Given the description of an element on the screen output the (x, y) to click on. 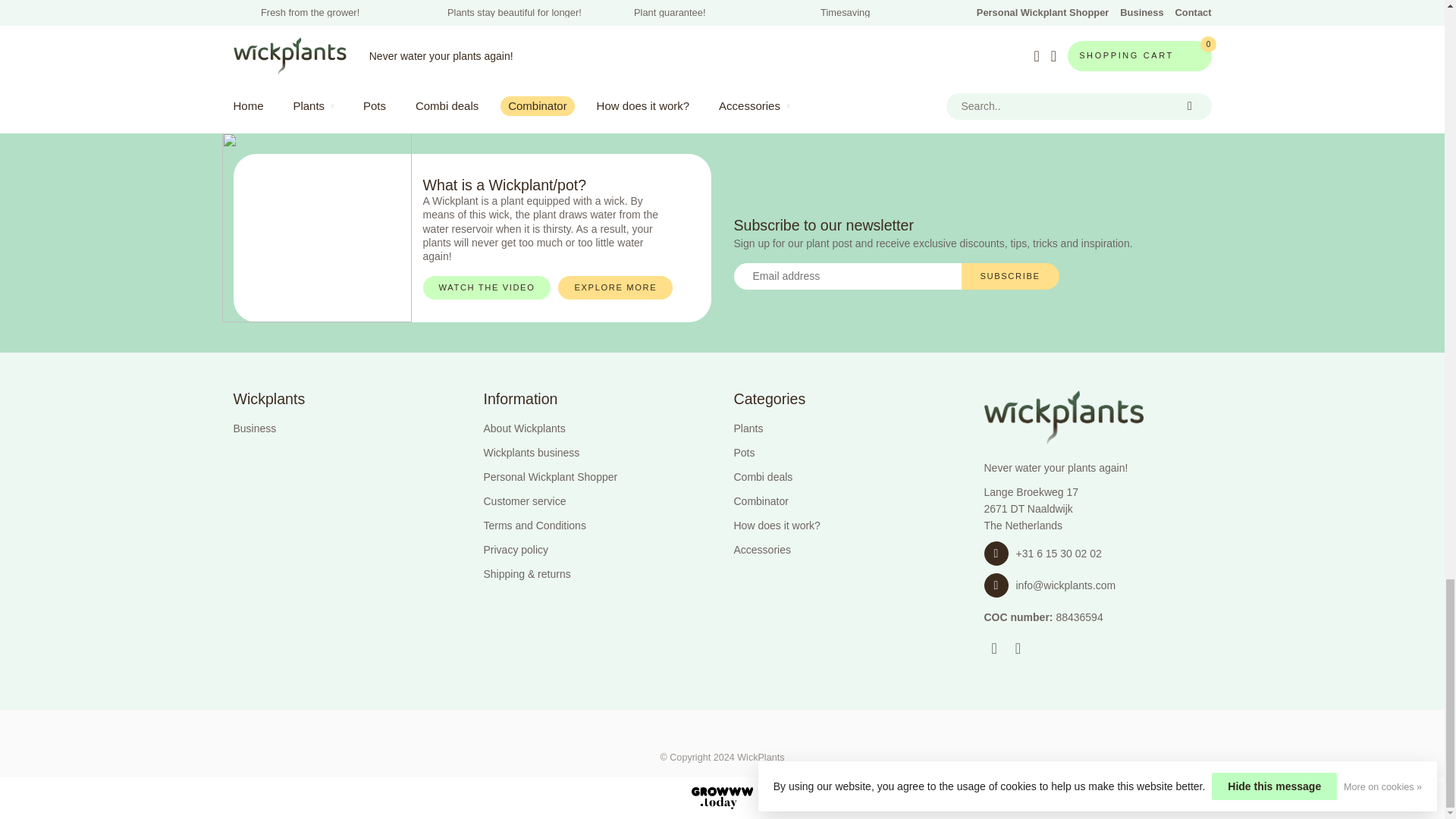
Wickplants business (597, 452)
Personal Wickplant Shopper (597, 476)
Terms and Conditions (597, 525)
About Wickplants (597, 428)
Privacy policy (597, 549)
Business (346, 428)
Customer service (597, 500)
